Given the description of an element on the screen output the (x, y) to click on. 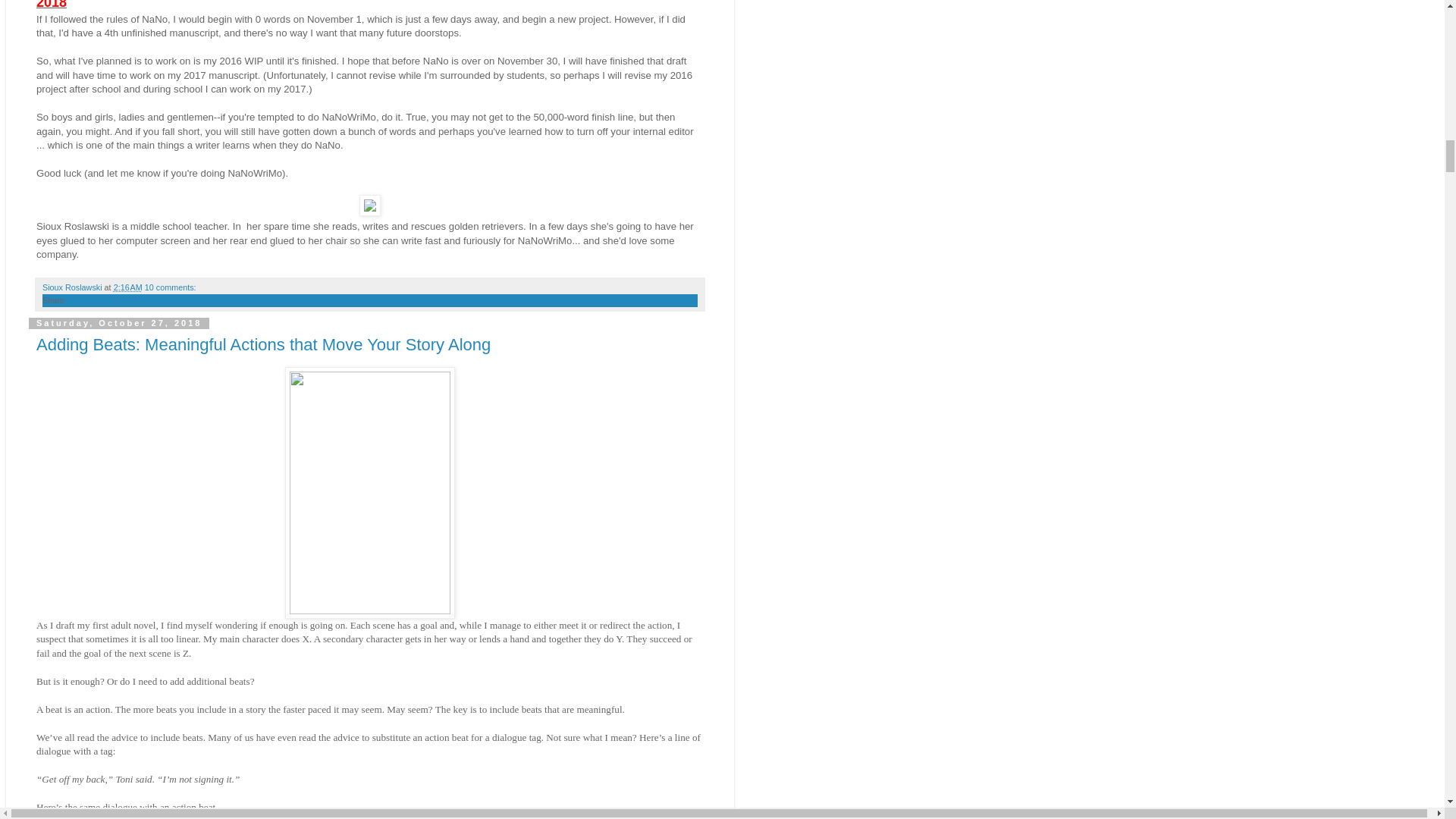
Adding Beats: Meaningful Actions that Move Your Story Along (263, 343)
Sioux Roslawski (73, 286)
Share (53, 299)
10 comments: (170, 286)
permanent link (127, 286)
author profile (73, 286)
